Given the description of an element on the screen output the (x, y) to click on. 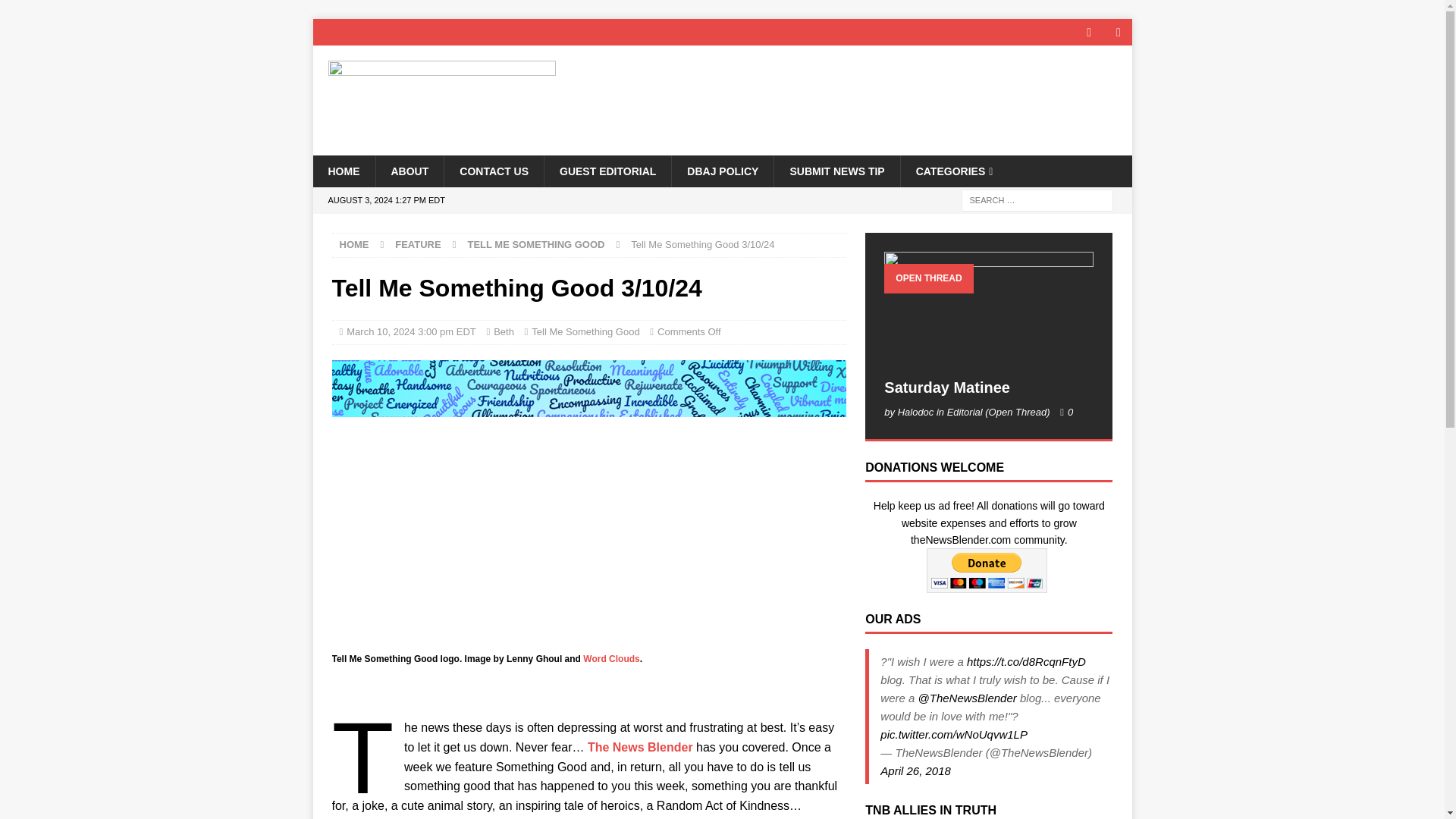
TELL ME SOMETHING GOOD (535, 244)
GUEST EDITORIAL (607, 171)
CATEGORIES (954, 171)
Search (56, 11)
HOME (343, 171)
ABOUT (409, 171)
March 10, 2024 3:00 pm EDT (411, 331)
Word Clouds (611, 658)
HOME (354, 244)
Saturday Matinee (988, 310)
DBAJ POLICY (722, 171)
Saturday Matinee (946, 387)
SUBMIT NEWS TIP (836, 171)
Tell Me Something Good (585, 331)
The News Blender (640, 747)
